Given the description of an element on the screen output the (x, y) to click on. 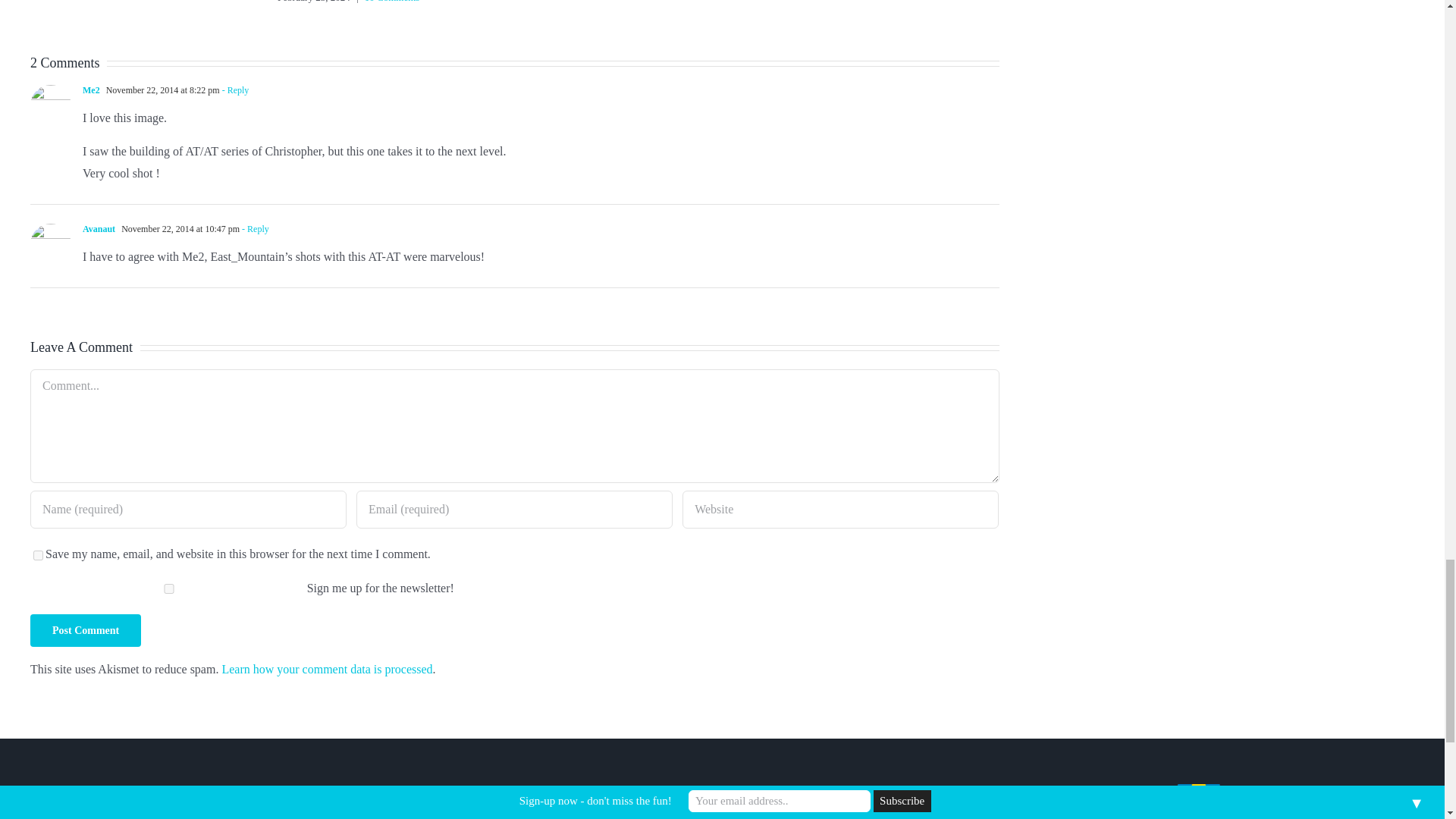
1 (168, 588)
Post Comment (85, 630)
yes (38, 555)
